Given the description of an element on the screen output the (x, y) to click on. 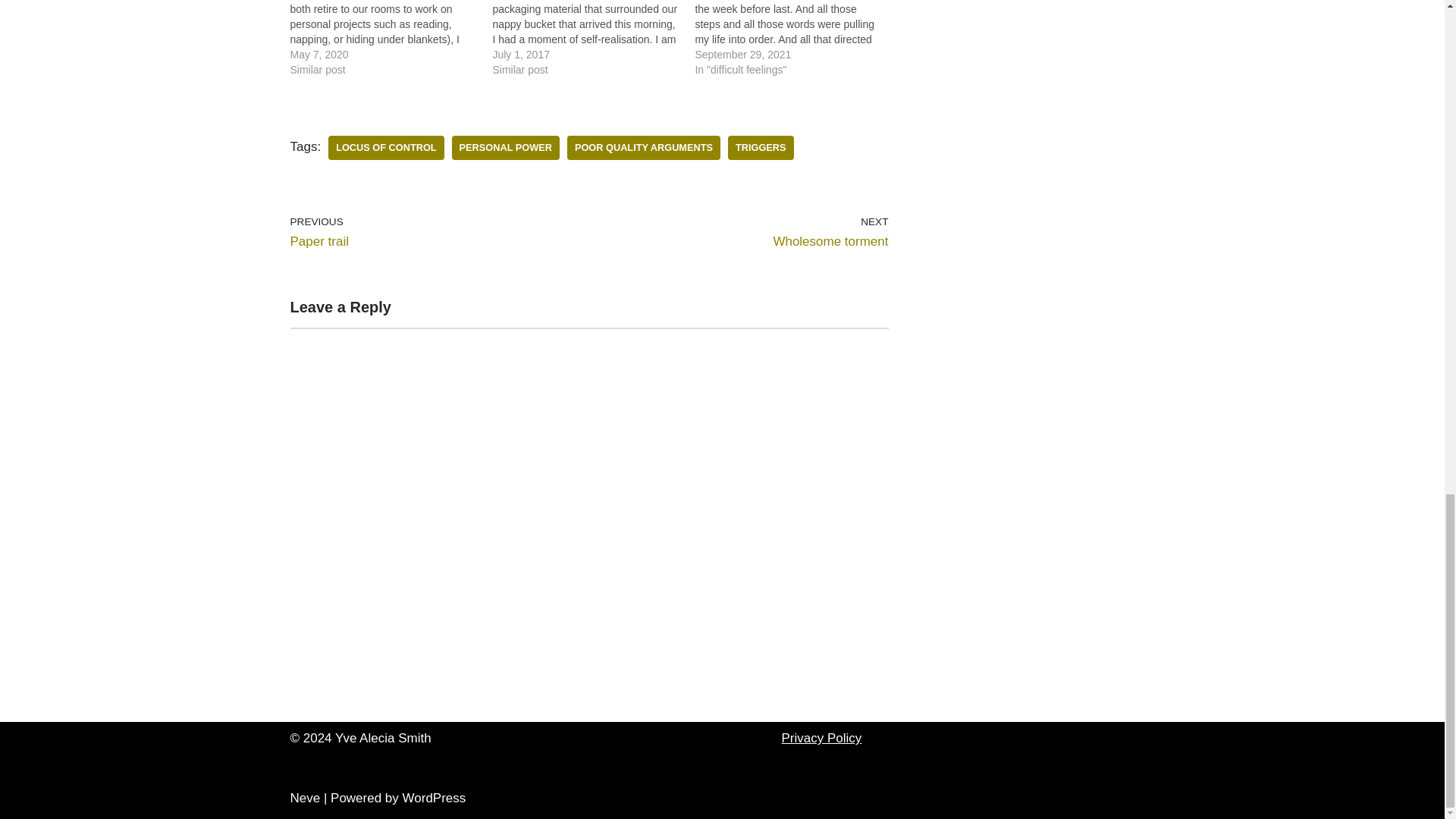
TRIGGERS (760, 147)
A flash of insight (593, 38)
LOCUS OF CONTROL (386, 147)
Retrieve the fucks (795, 38)
Full mood (390, 38)
POOR QUALITY ARGUMENTS (643, 147)
poor quality arguments (742, 232)
personal power (643, 147)
